Given the description of an element on the screen output the (x, y) to click on. 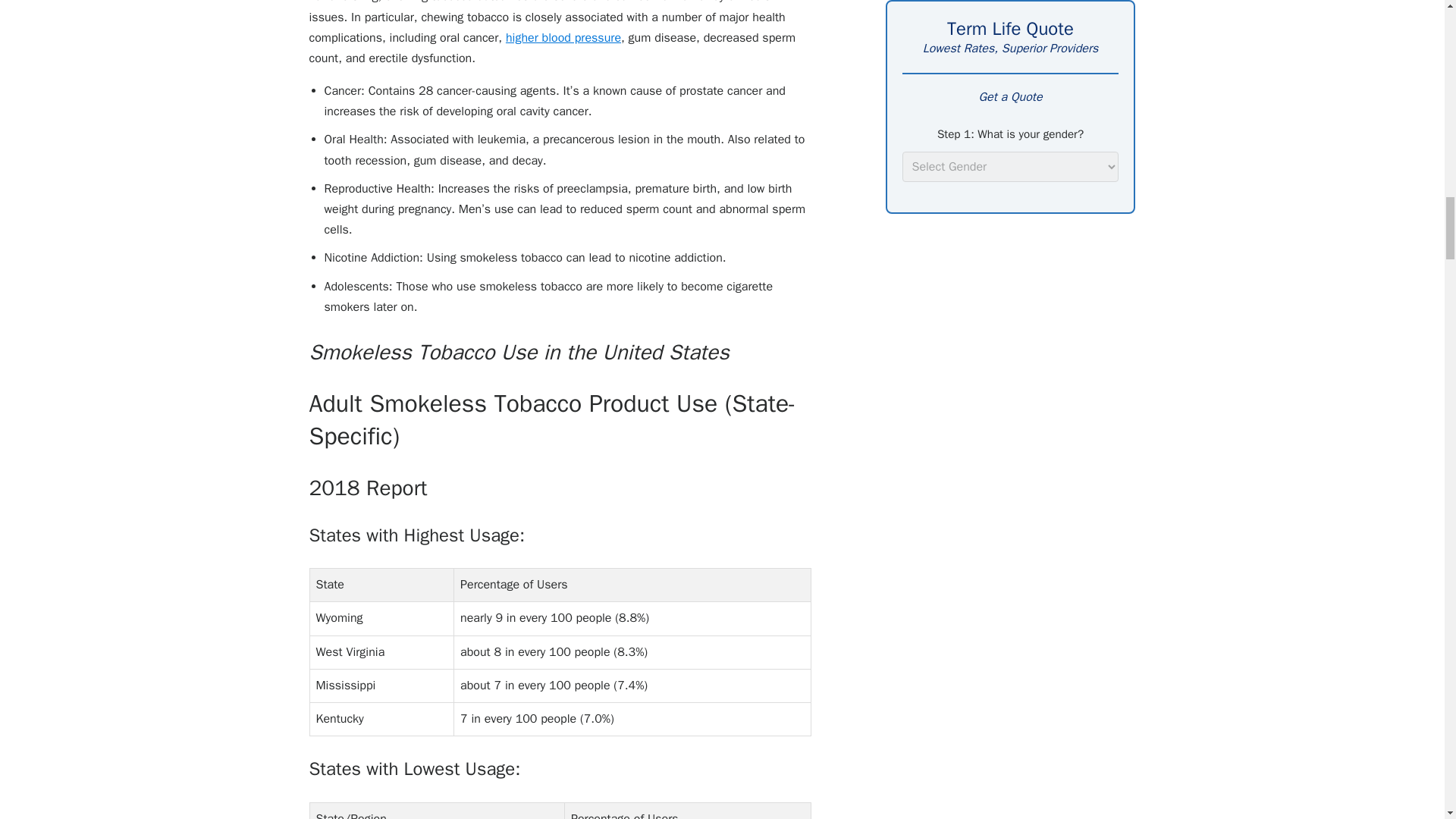
higher blood pressure (563, 37)
